Given the description of an element on the screen output the (x, y) to click on. 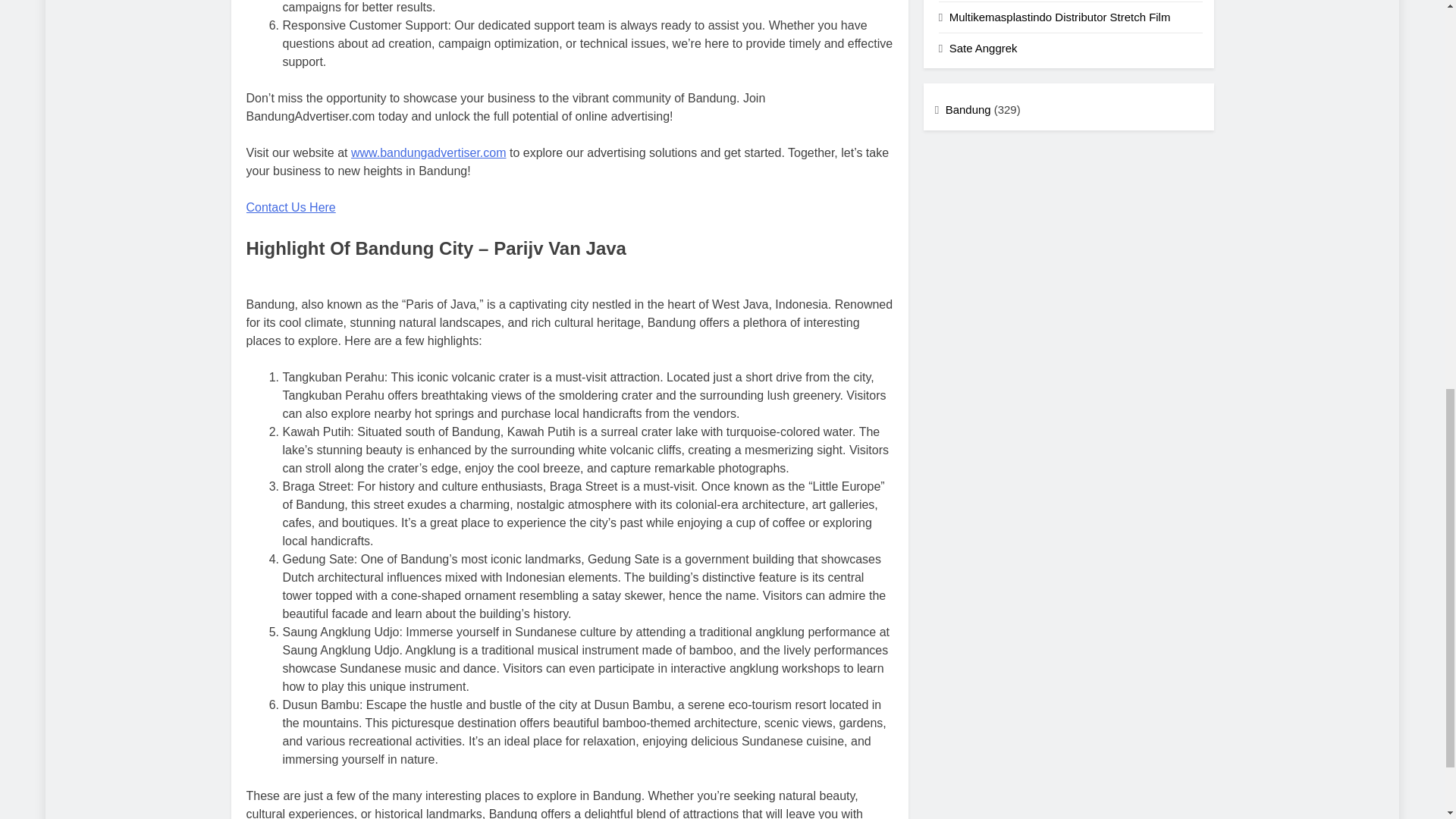
Contact Us Here (290, 206)
Bandung (967, 109)
www.bandungadvertiser.com (428, 152)
Multikemasplastindo Distributor Stretch Film (1059, 16)
Sate Anggrek (983, 47)
